Given the description of an element on the screen output the (x, y) to click on. 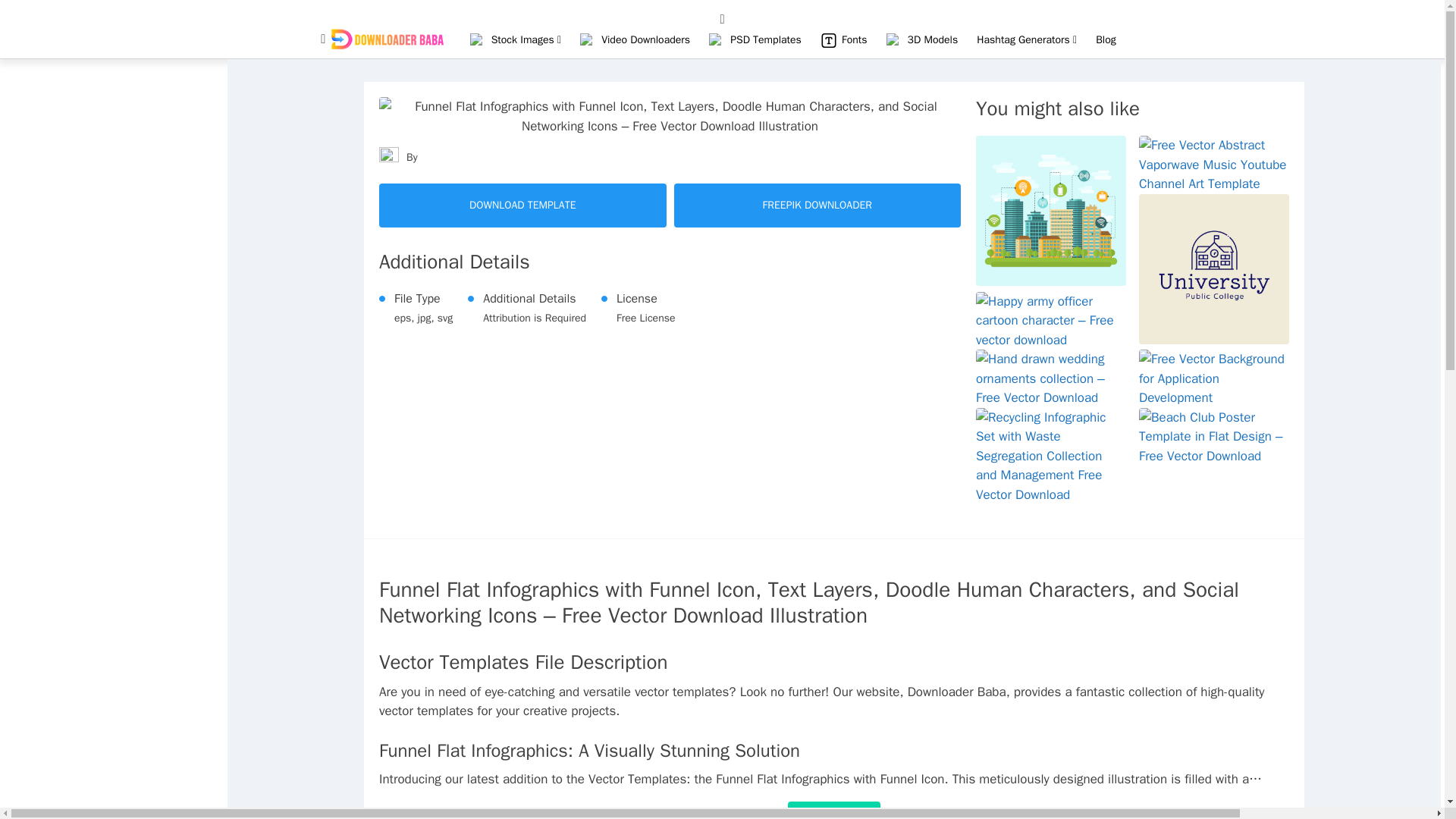
Fonts (854, 39)
Video Downloaders (645, 39)
Downloader Baba Official Logo (387, 38)
DOWNLOAD TEMPLATE (522, 205)
Stock Images (526, 39)
PSD Templates (765, 39)
3D Models (932, 39)
FREEPIK DOWNLOADER (816, 205)
Blog (1105, 39)
Hashtag Generators (1026, 39)
